Given the description of an element on the screen output the (x, y) to click on. 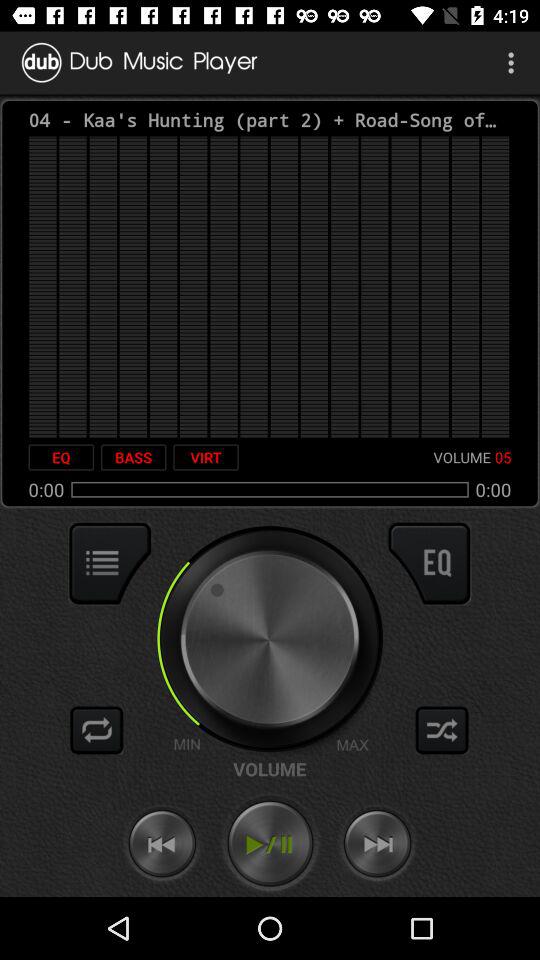
turn on the  virt  icon (205, 457)
